Given the description of an element on the screen output the (x, y) to click on. 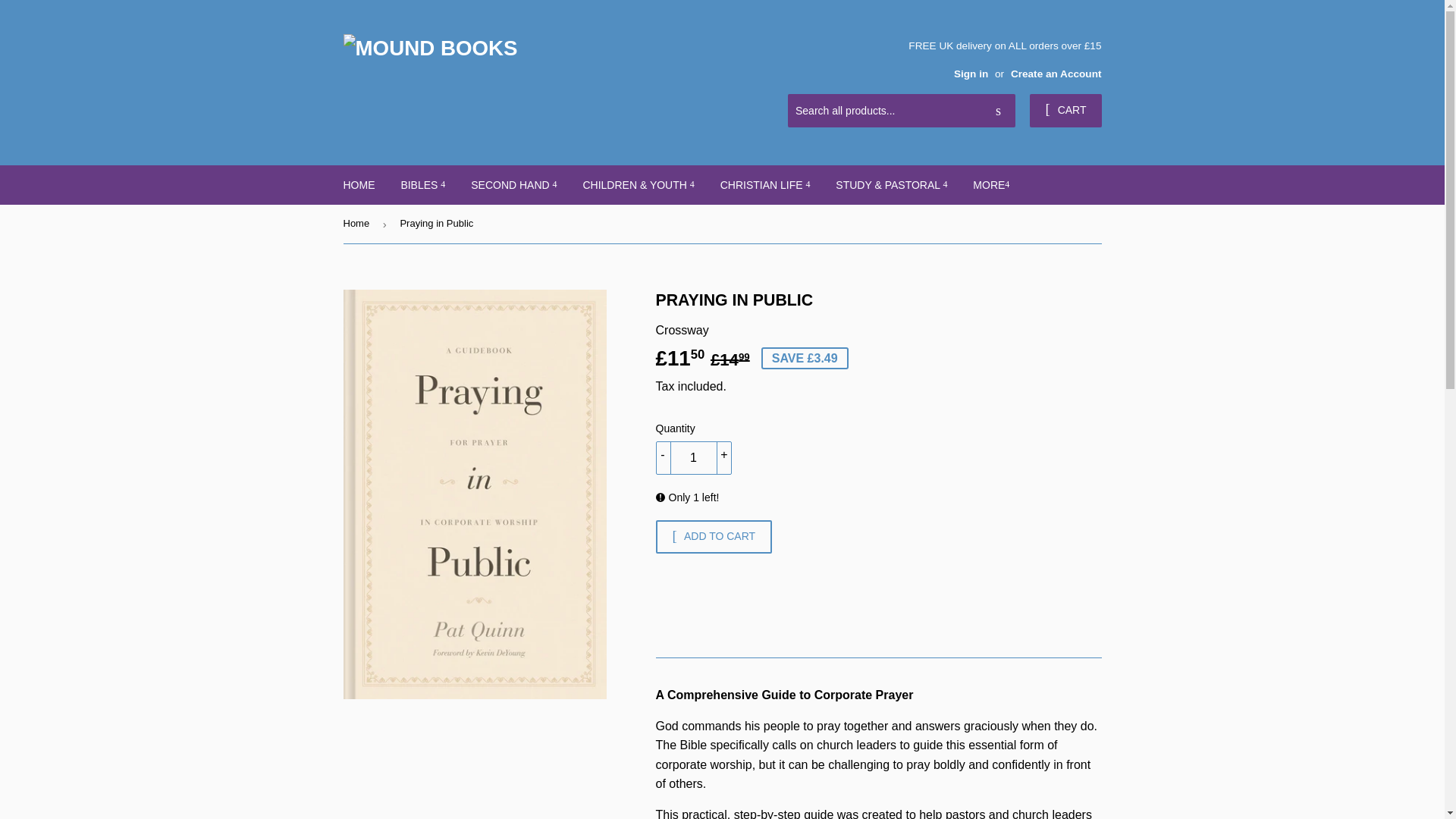
Search (997, 111)
Sign in (970, 73)
1 (692, 458)
Back to the frontpage (358, 223)
CART (1064, 110)
Create an Account (1056, 73)
